Given the description of an element on the screen output the (x, y) to click on. 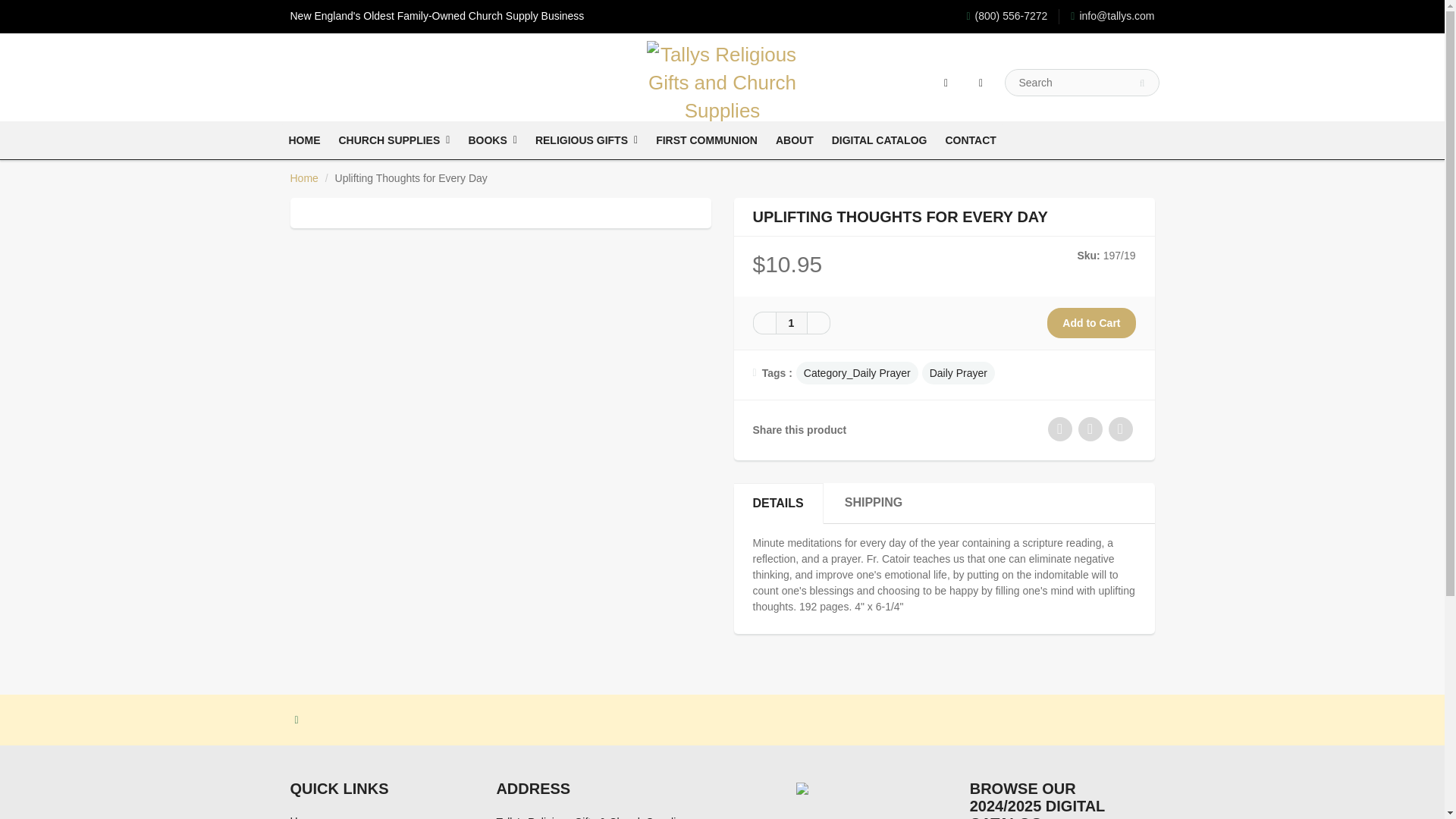
Home (303, 177)
1 (790, 323)
Add to Cart (1090, 322)
BOOKS (491, 140)
CHURCH SUPPLIES (393, 140)
HOME (304, 140)
